Given the description of an element on the screen output the (x, y) to click on. 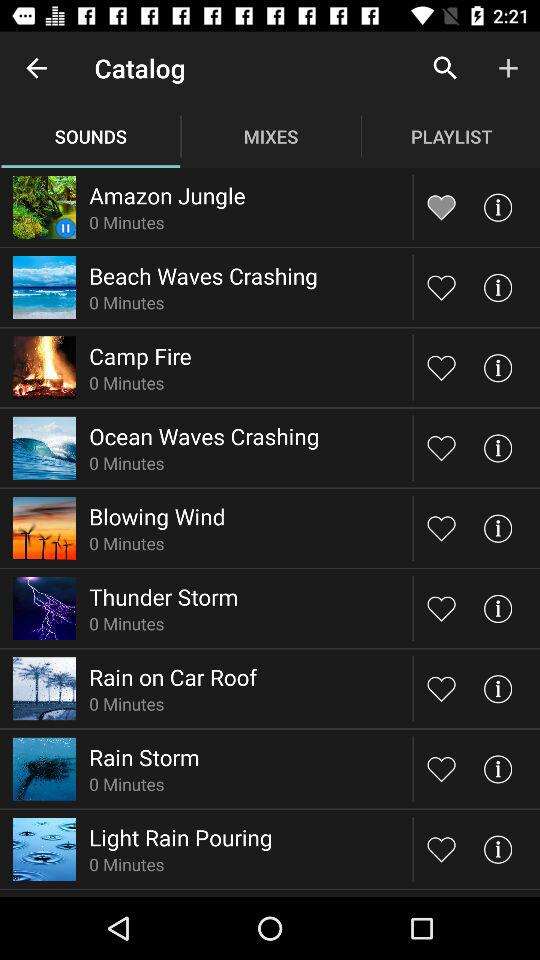
favorite the track (441, 608)
